Given the description of an element on the screen output the (x, y) to click on. 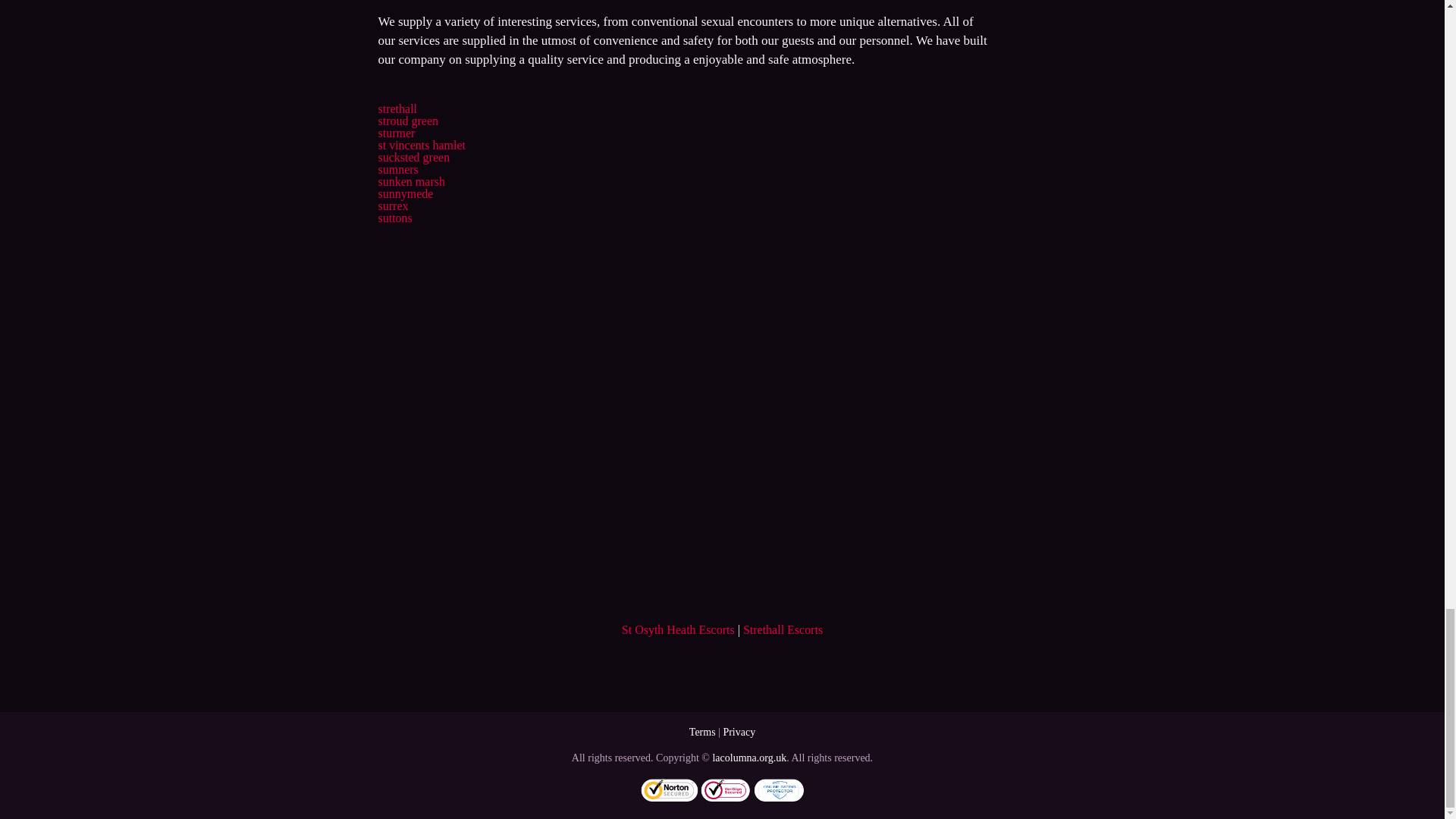
lacolumna.org.uk (748, 757)
Privacy (738, 731)
Terms (702, 731)
Privacy (738, 731)
sunnymede (404, 193)
sumners (397, 169)
stroud green (407, 120)
Terms (702, 731)
sturmer (395, 132)
sunken marsh (410, 181)
Strethall Escorts (782, 629)
suttons (394, 217)
sucksted green (413, 156)
surrex (392, 205)
strethall (396, 108)
